Given the description of an element on the screen output the (x, y) to click on. 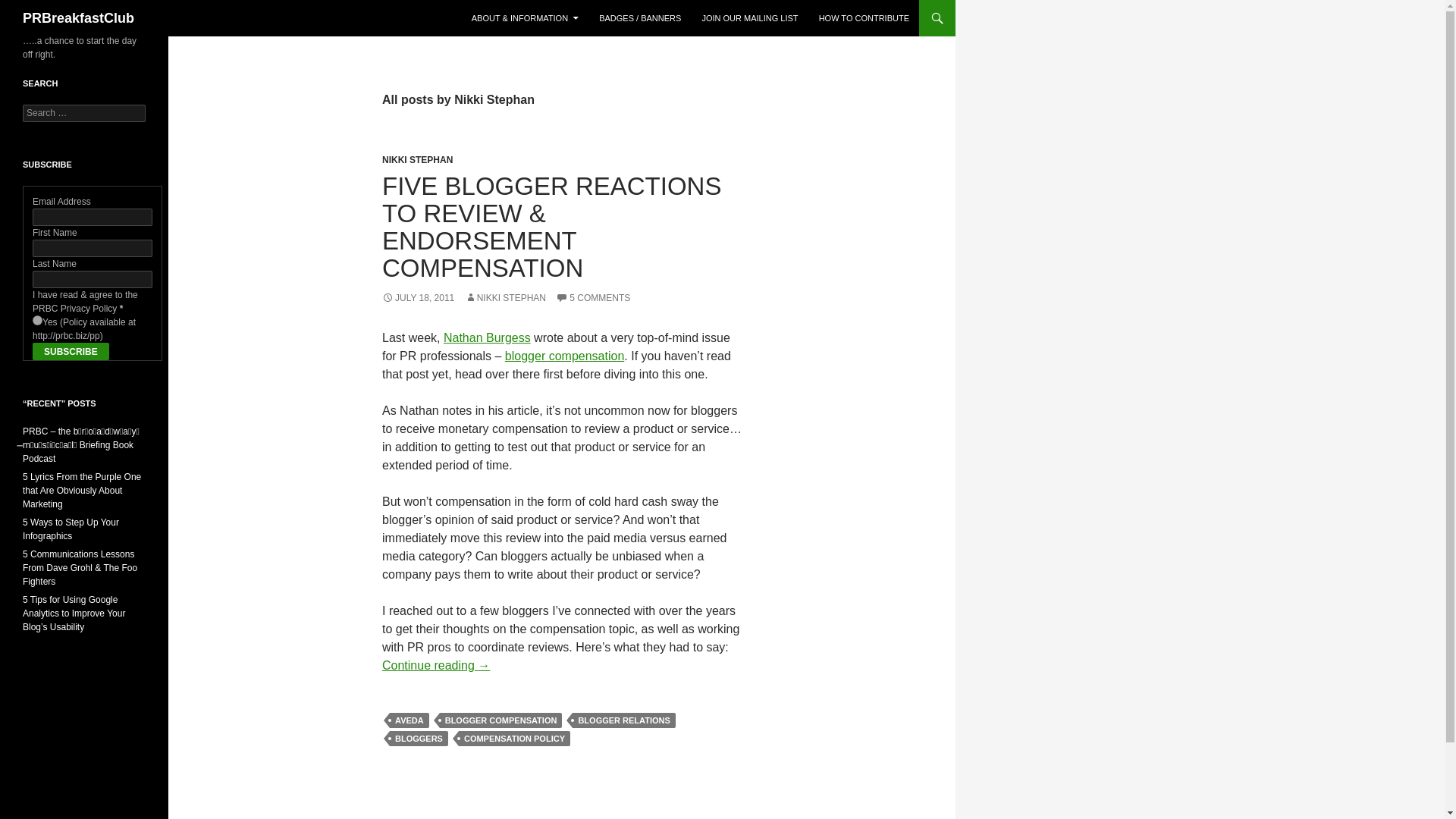
COMPENSATION POLICY (514, 738)
BLOGGER COMPENSATION (500, 720)
Nathan Burgess (487, 337)
Subscribe (70, 351)
BLOGGERS (419, 738)
BLOGGER RELATIONS (623, 720)
Search (30, 8)
JOIN OUR MAILING LIST (749, 18)
NIKKI STEPHAN (505, 297)
JULY 18, 2011 (417, 297)
PRBreakfastClub (78, 17)
HOW TO CONTRIBUTE (863, 18)
NIKKI STEPHAN (416, 159)
blogger compensation (564, 355)
